Given the description of an element on the screen output the (x, y) to click on. 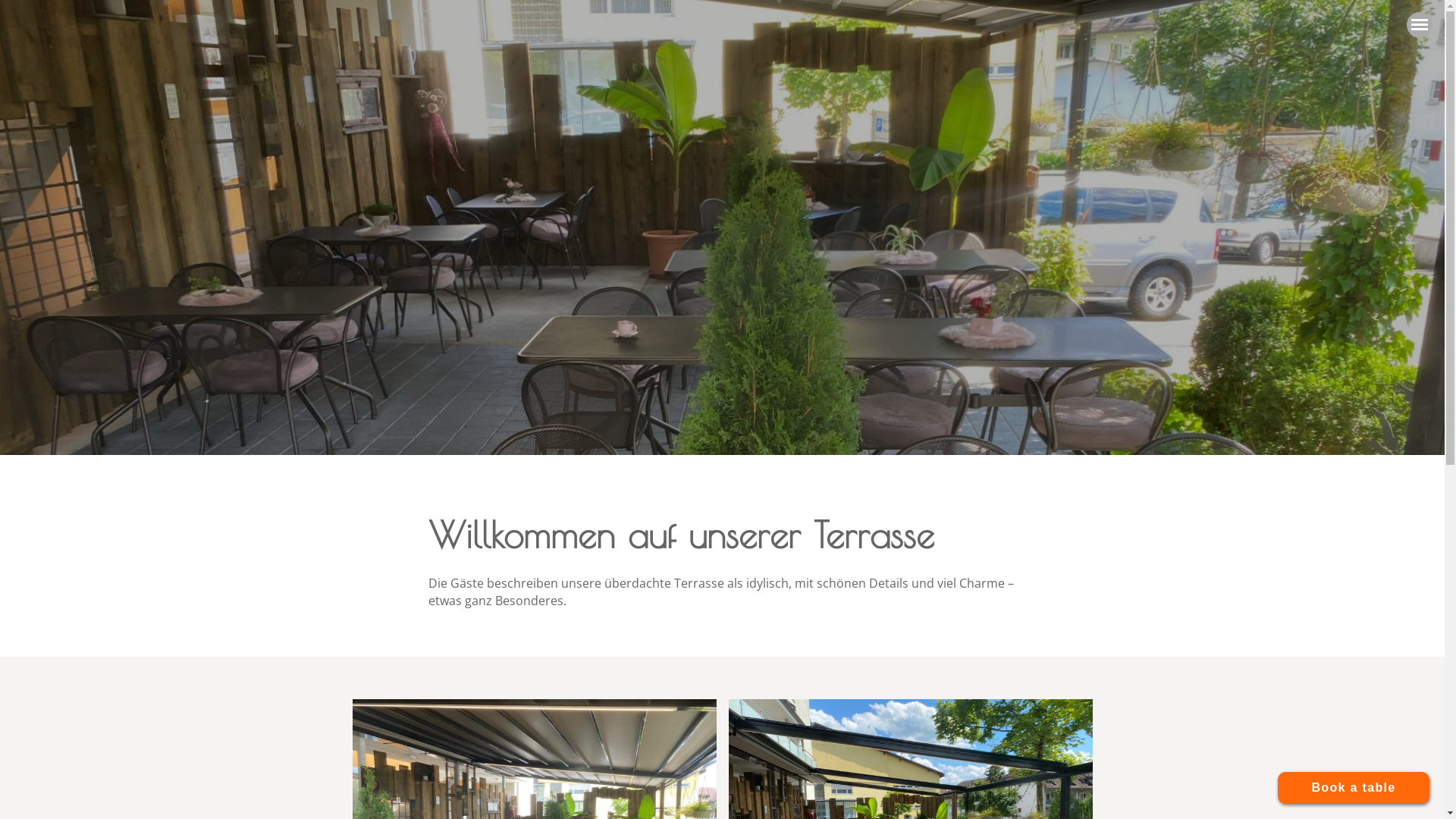
Book a table Element type: text (1353, 787)
